Given the description of an element on the screen output the (x, y) to click on. 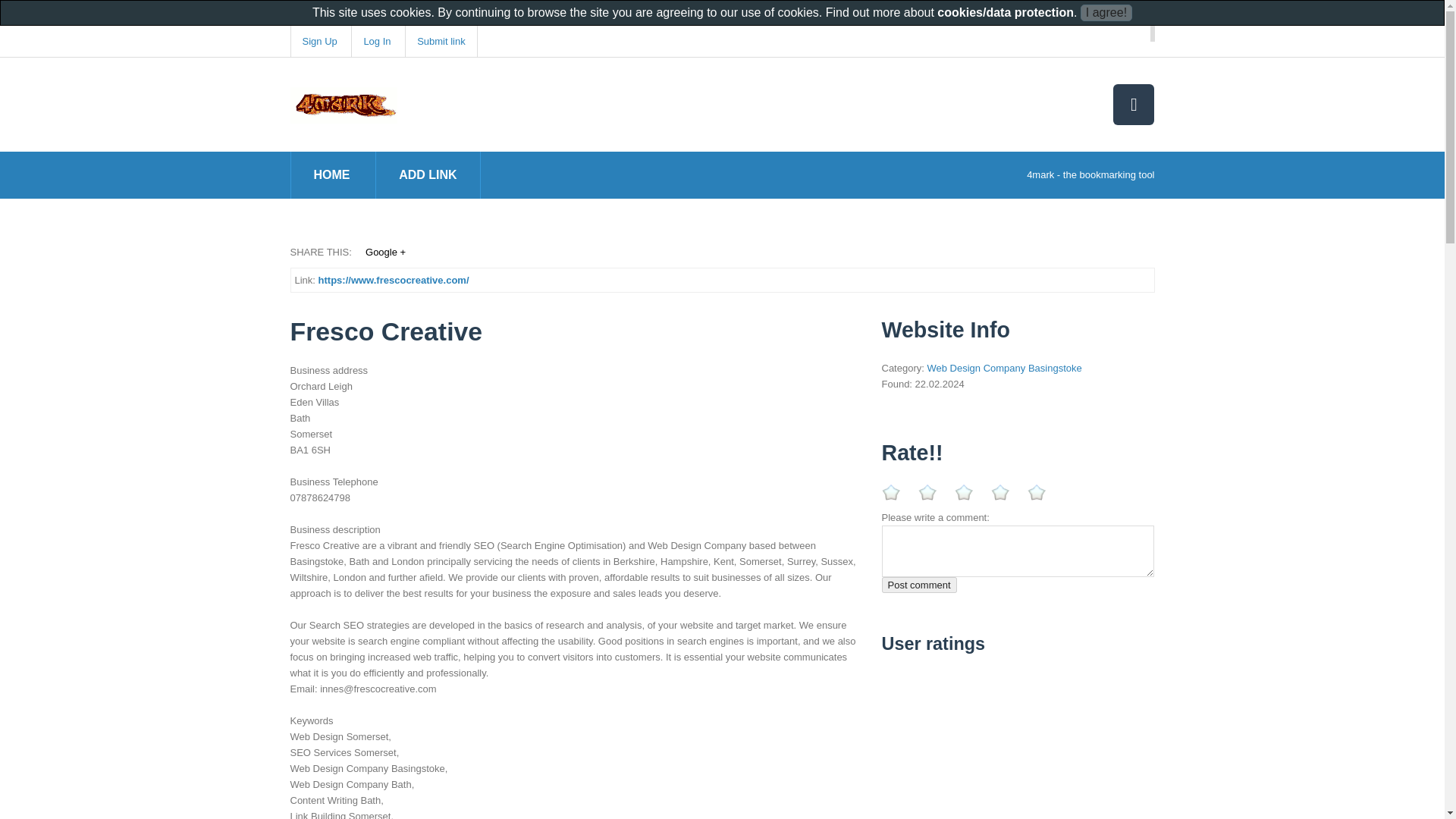
HOME (332, 174)
ADD LINK (427, 174)
Post comment (918, 584)
Submit link (440, 40)
Sign Up (318, 40)
I agree! (1106, 12)
Log In (375, 40)
